Given the description of an element on the screen output the (x, y) to click on. 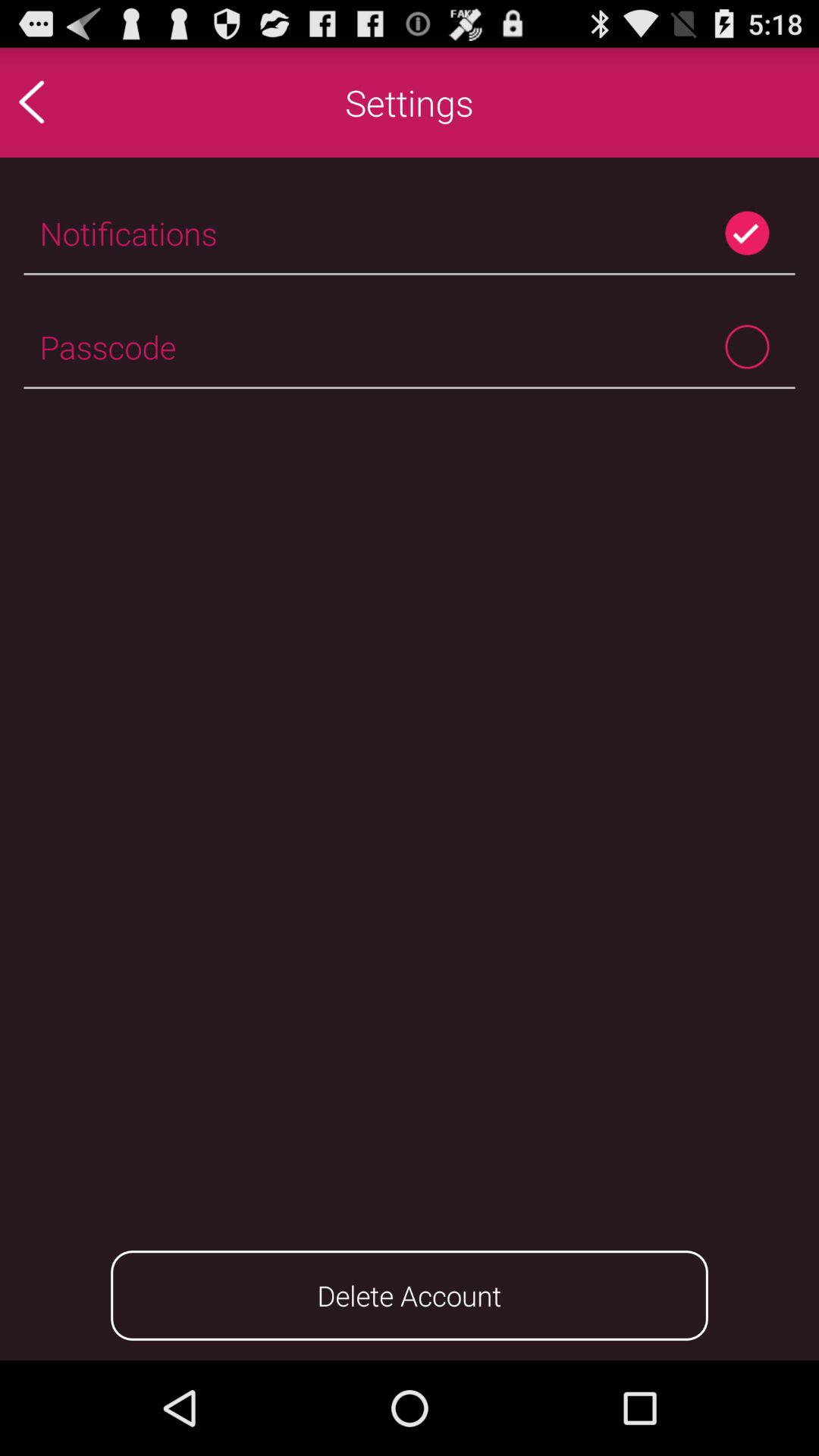
scroll until delete account app (409, 1295)
